Given the description of an element on the screen output the (x, y) to click on. 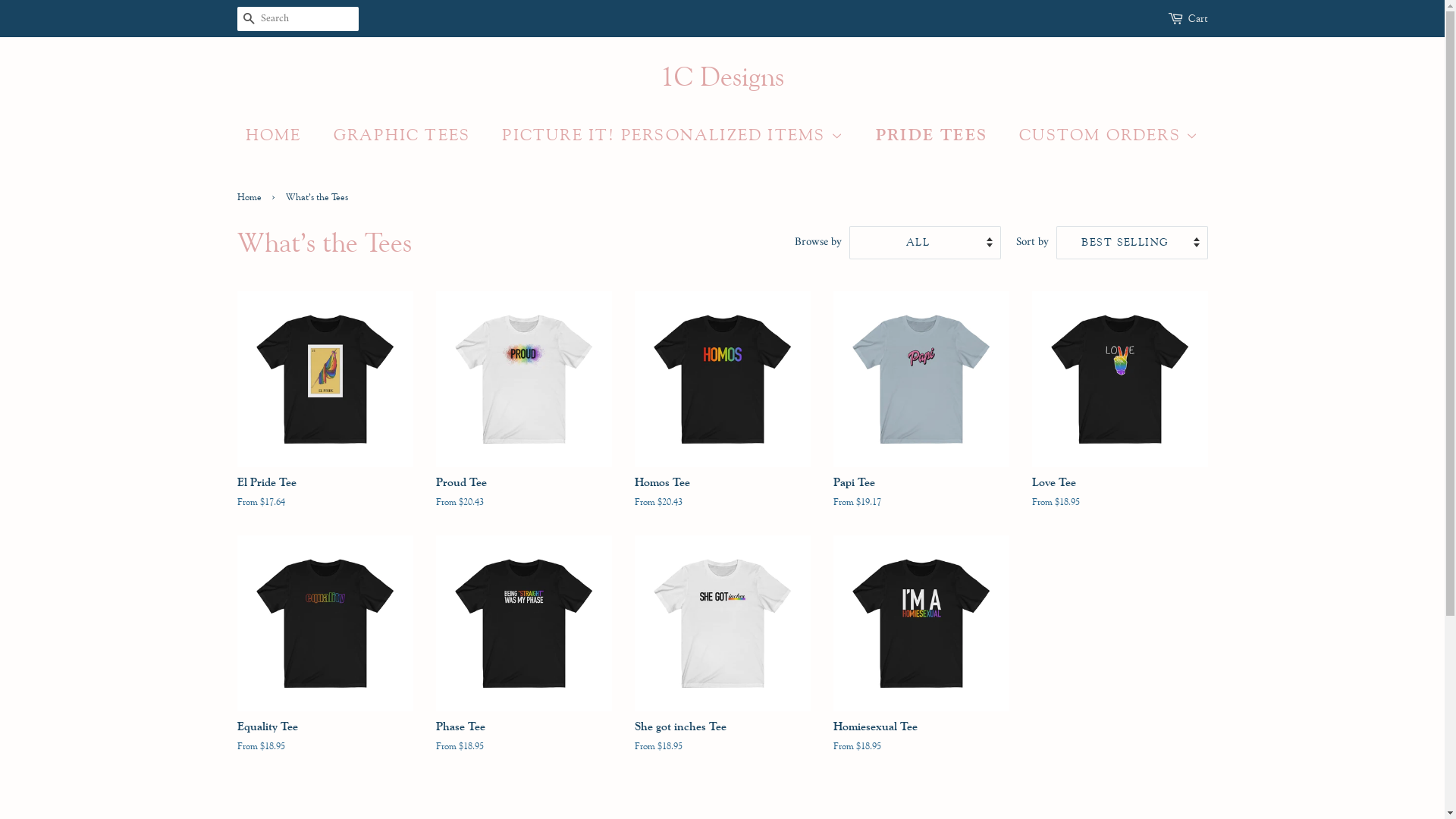
SEARCH Element type: text (248, 18)
Proud Tee
From $20.43 Element type: text (523, 413)
Papi Tee
From $19.17 Element type: text (920, 413)
Home Element type: text (250, 196)
Equality Tee
From $18.95 Element type: text (324, 657)
Homos Tee
From $20.43 Element type: text (721, 413)
Homiesexual Tee
From $18.95 Element type: text (920, 657)
PRIDE TEES Element type: text (933, 134)
Love Tee
From $18.95 Element type: text (1119, 413)
Phase Tee
From $18.95 Element type: text (523, 657)
GRAPHIC TEES Element type: text (403, 134)
El Pride Tee
From $17.64 Element type: text (324, 413)
1C Designs Element type: text (721, 75)
CUSTOM ORDERS Element type: text (1102, 134)
Cart Element type: text (1197, 18)
She got inches Tee
From $18.95 Element type: text (721, 657)
PICTURE IT! PERSONALIZED ITEMS Element type: text (674, 134)
HOME Element type: text (280, 134)
